Given the description of an element on the screen output the (x, y) to click on. 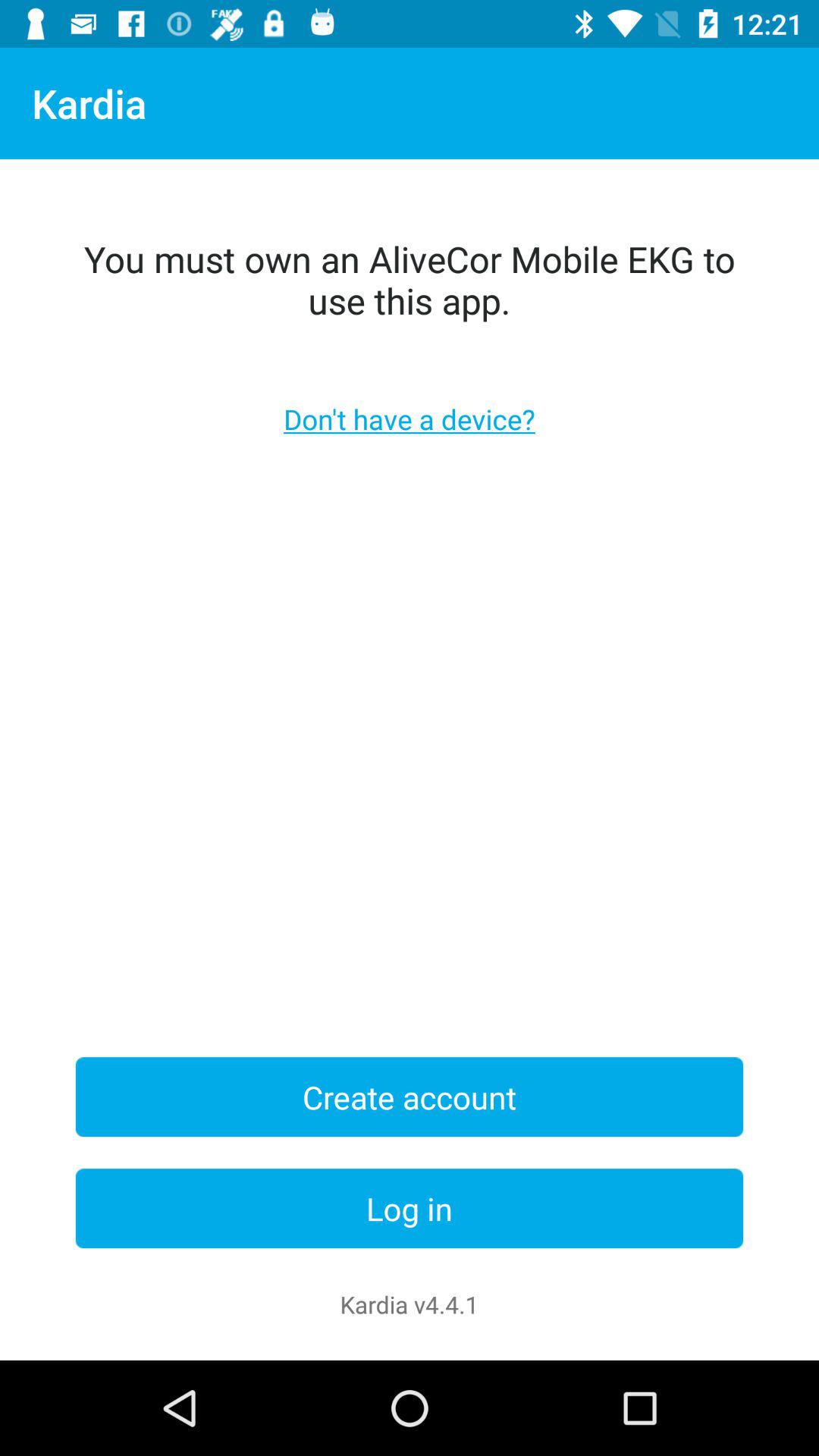
open create account item (409, 1096)
